Given the description of an element on the screen output the (x, y) to click on. 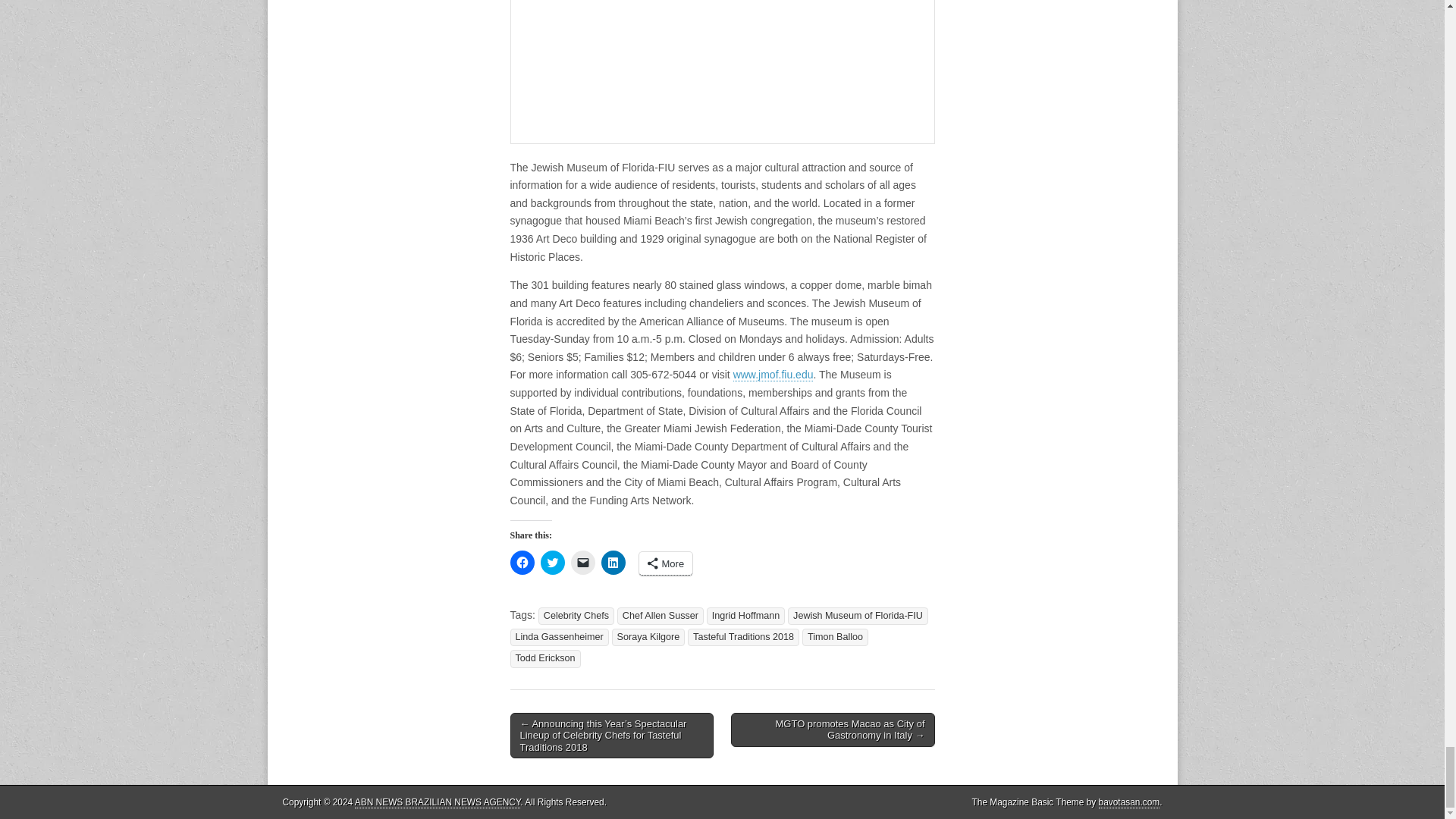
Click to share on Facebook (521, 562)
Celebrity Chefs (576, 615)
Click to share on Twitter (552, 562)
Todd Erickson (544, 658)
Tasteful Traditions 2018 (743, 637)
Timon Balloo (834, 637)
Chef Allen Susser (660, 615)
Click to share on LinkedIn (611, 562)
Ingrid Hoffmann (745, 615)
Soraya Kilgore (648, 637)
www.jmof.fiu.edu (773, 374)
More (666, 563)
Linda Gassenheimer (558, 637)
Jewish Museum of Florida-FIU (857, 615)
Click to email a link to a friend (582, 562)
